Given the description of an element on the screen output the (x, y) to click on. 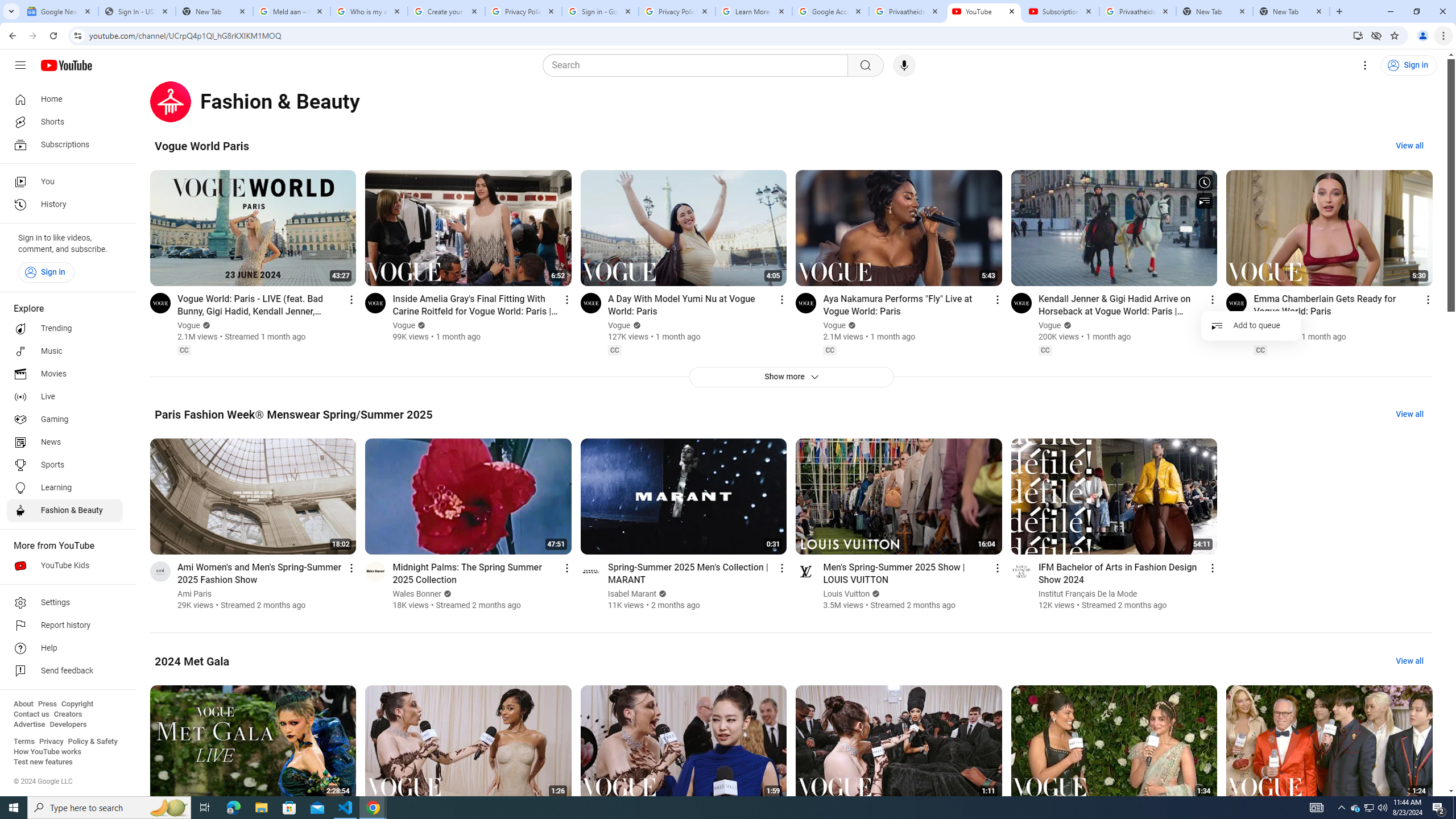
Sign in - Google Accounts (599, 11)
Settings (64, 602)
Live (64, 396)
Sign In - USA TODAY (136, 11)
Settings (1365, 65)
